Given the description of an element on the screen output the (x, y) to click on. 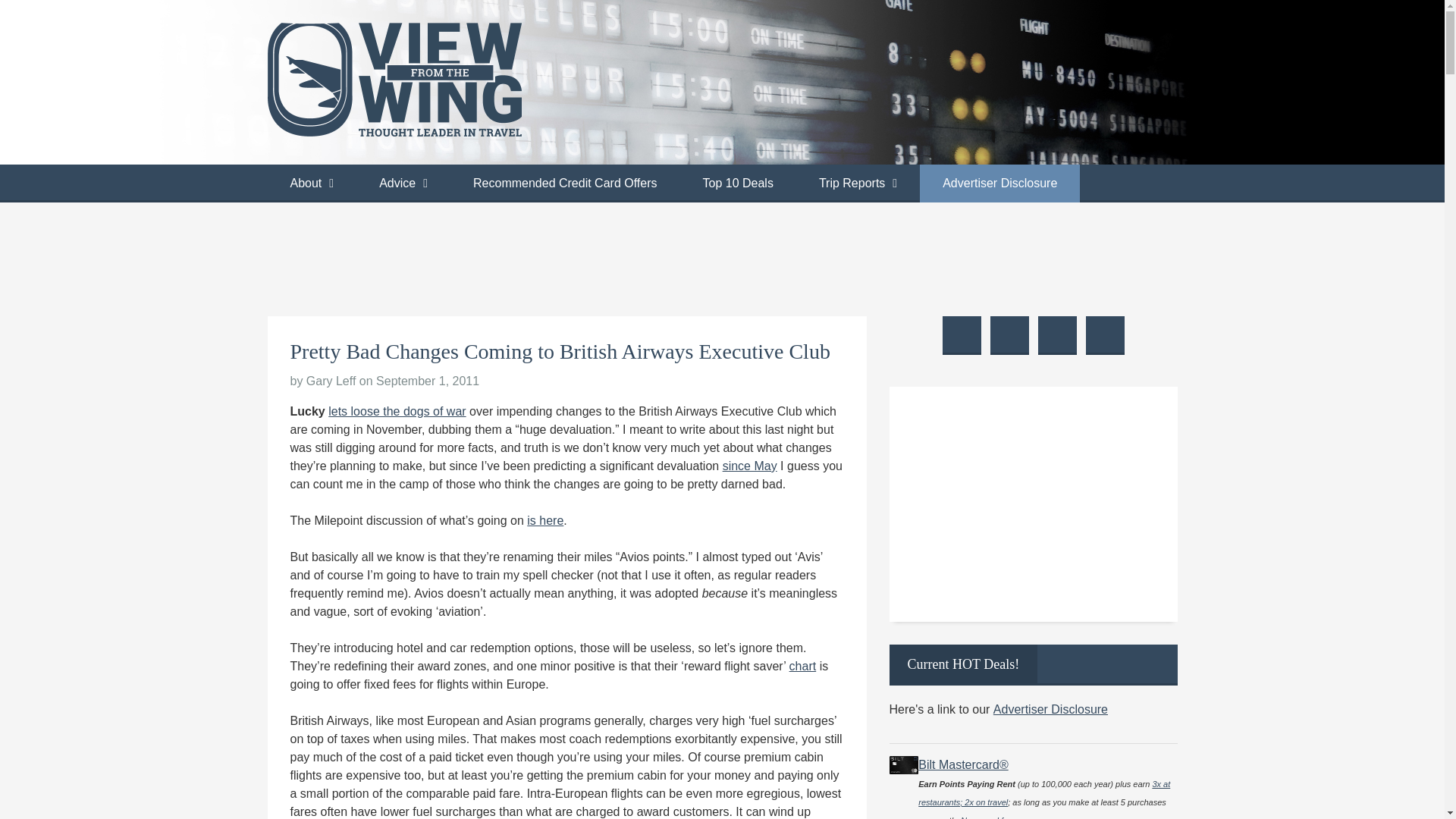
Advice (402, 183)
chart (802, 666)
Advertiser Disclosure (1000, 183)
About (311, 183)
Recommended Credit Card Offers (564, 183)
Gary Leff (330, 380)
since May (749, 465)
Top 10 Deals (736, 183)
is here (545, 520)
lets loose the dogs of war (397, 410)
